Given the description of an element on the screen output the (x, y) to click on. 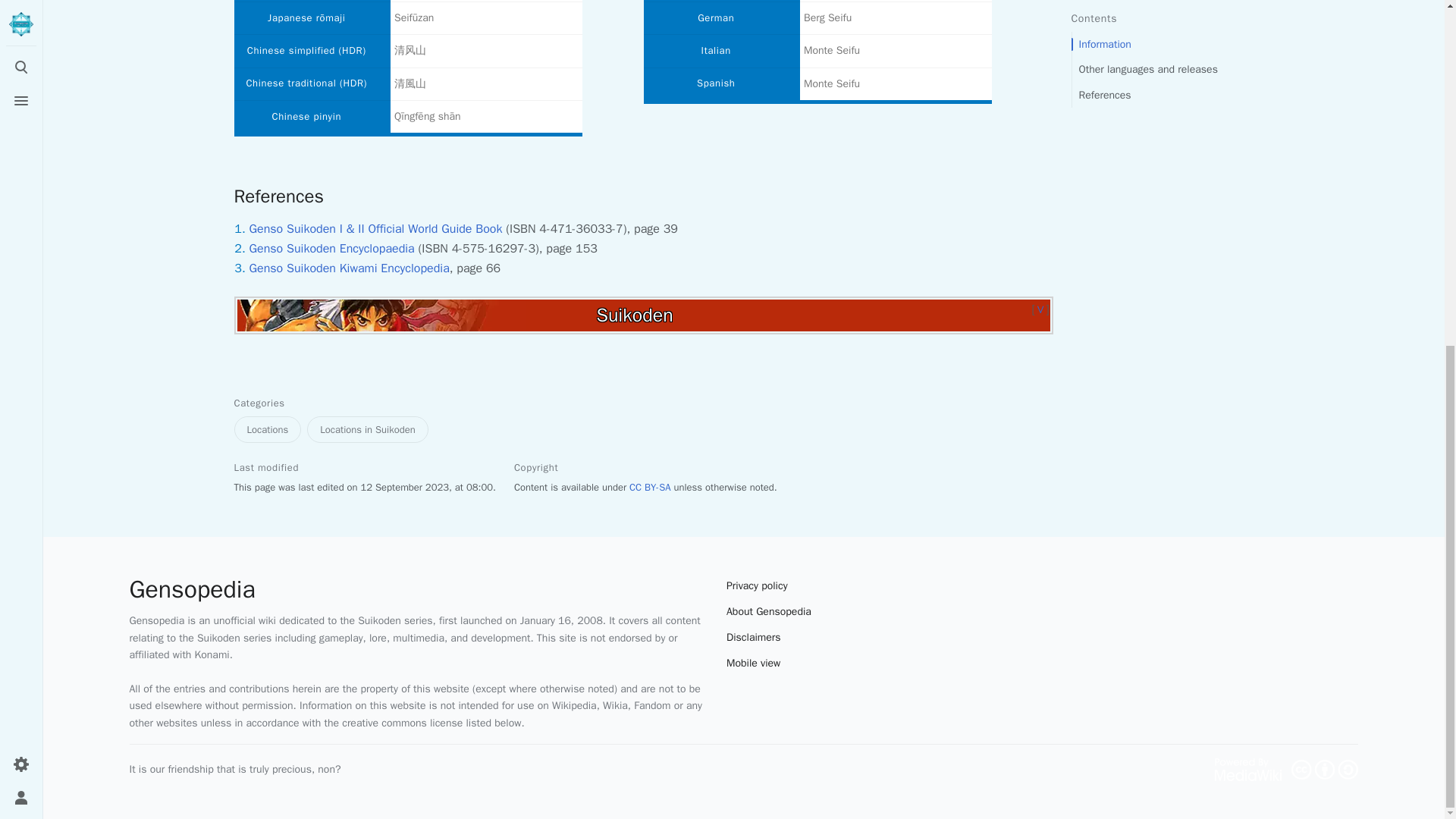
Toggle personal menu (20, 205)
Genso Suikoden Encyclopaedia (330, 248)
Preferences (20, 172)
